Given the description of an element on the screen output the (x, y) to click on. 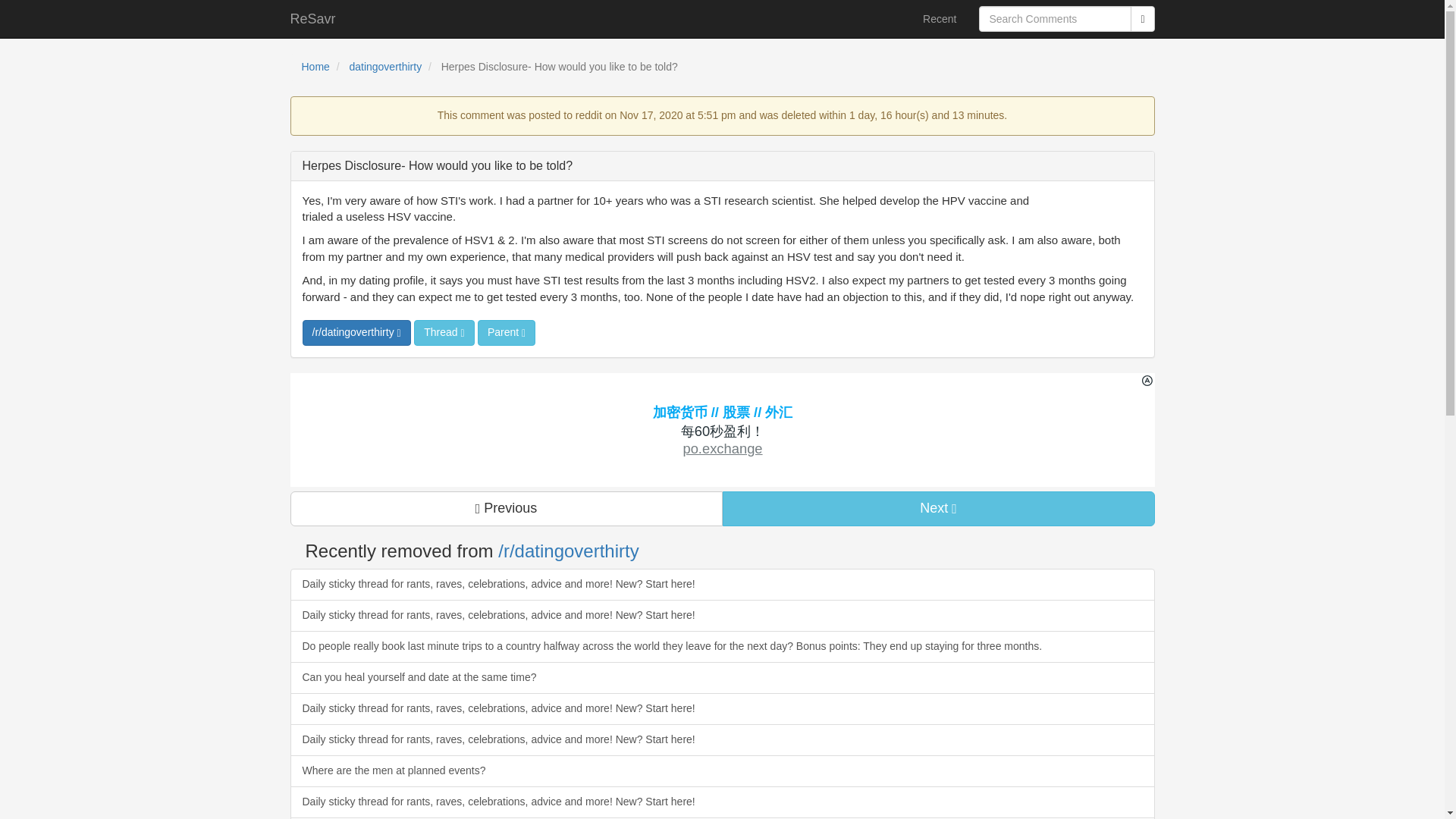
Next (938, 508)
Home (315, 66)
Recent (939, 18)
Thread (443, 332)
Parent (506, 332)
Can you heal yourself and date at the same time? (721, 677)
Where are the men at planned events? (721, 771)
Previous (505, 508)
